Given the description of an element on the screen output the (x, y) to click on. 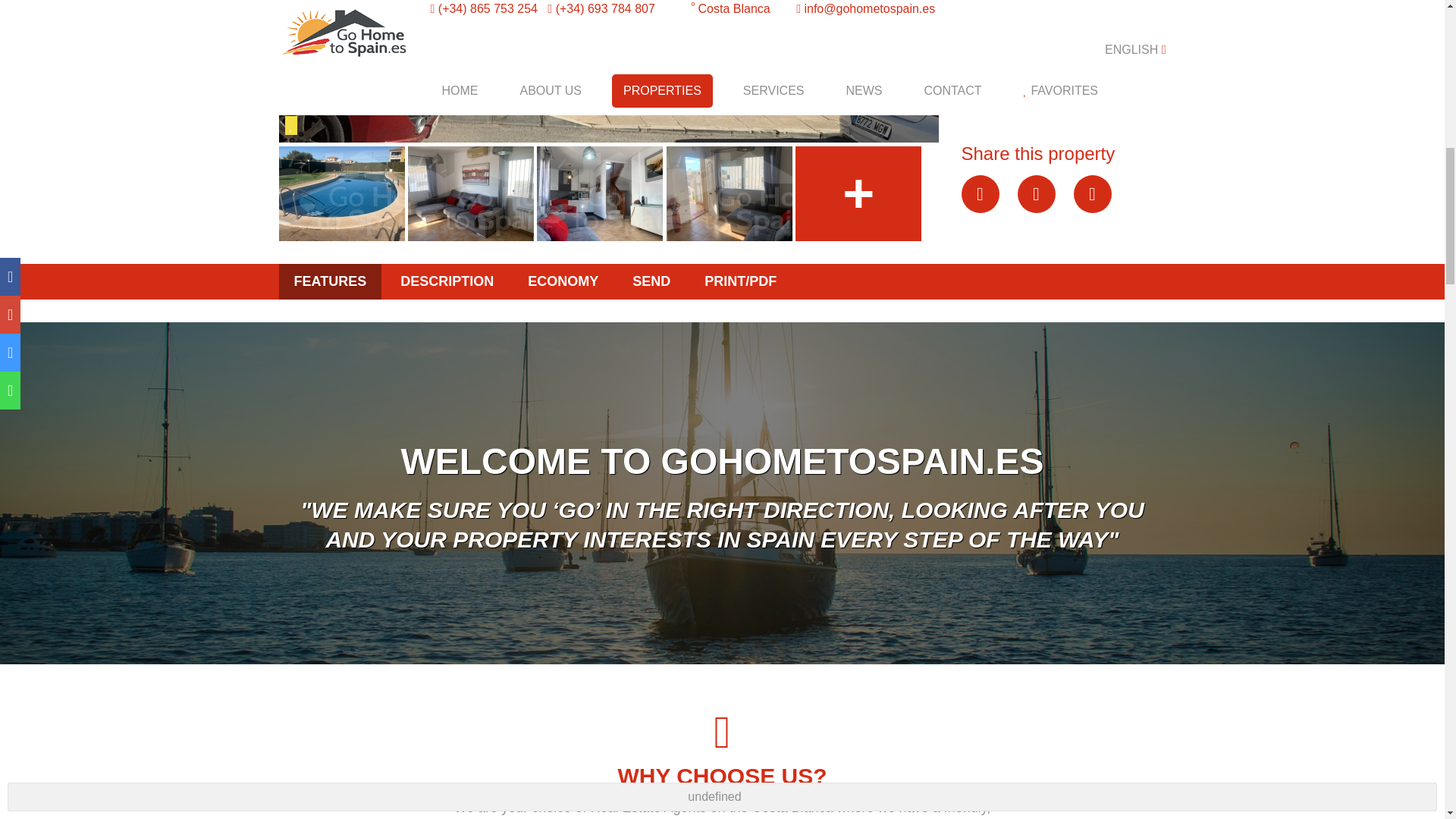
on (965, 58)
